Given the description of an element on the screen output the (x, y) to click on. 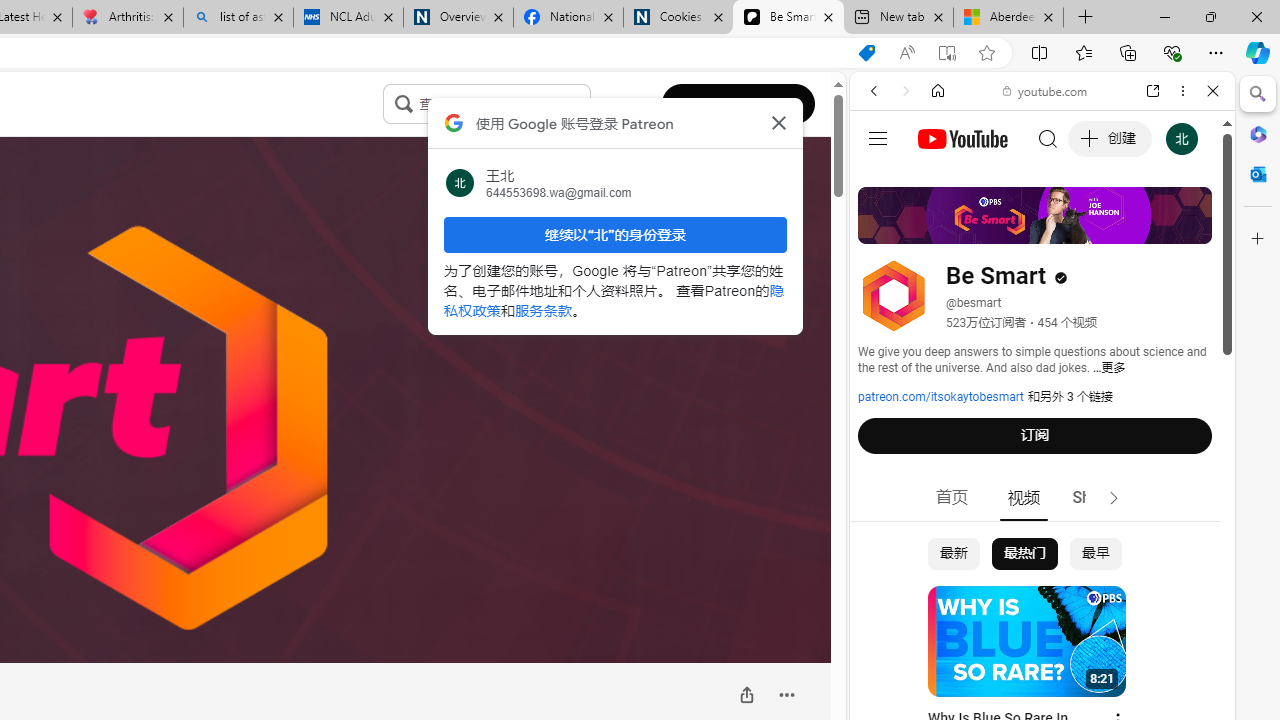
SEARCH TOOLS (1093, 228)
Close Customize pane (1258, 239)
Home (938, 91)
